Given the description of an element on the screen output the (x, y) to click on. 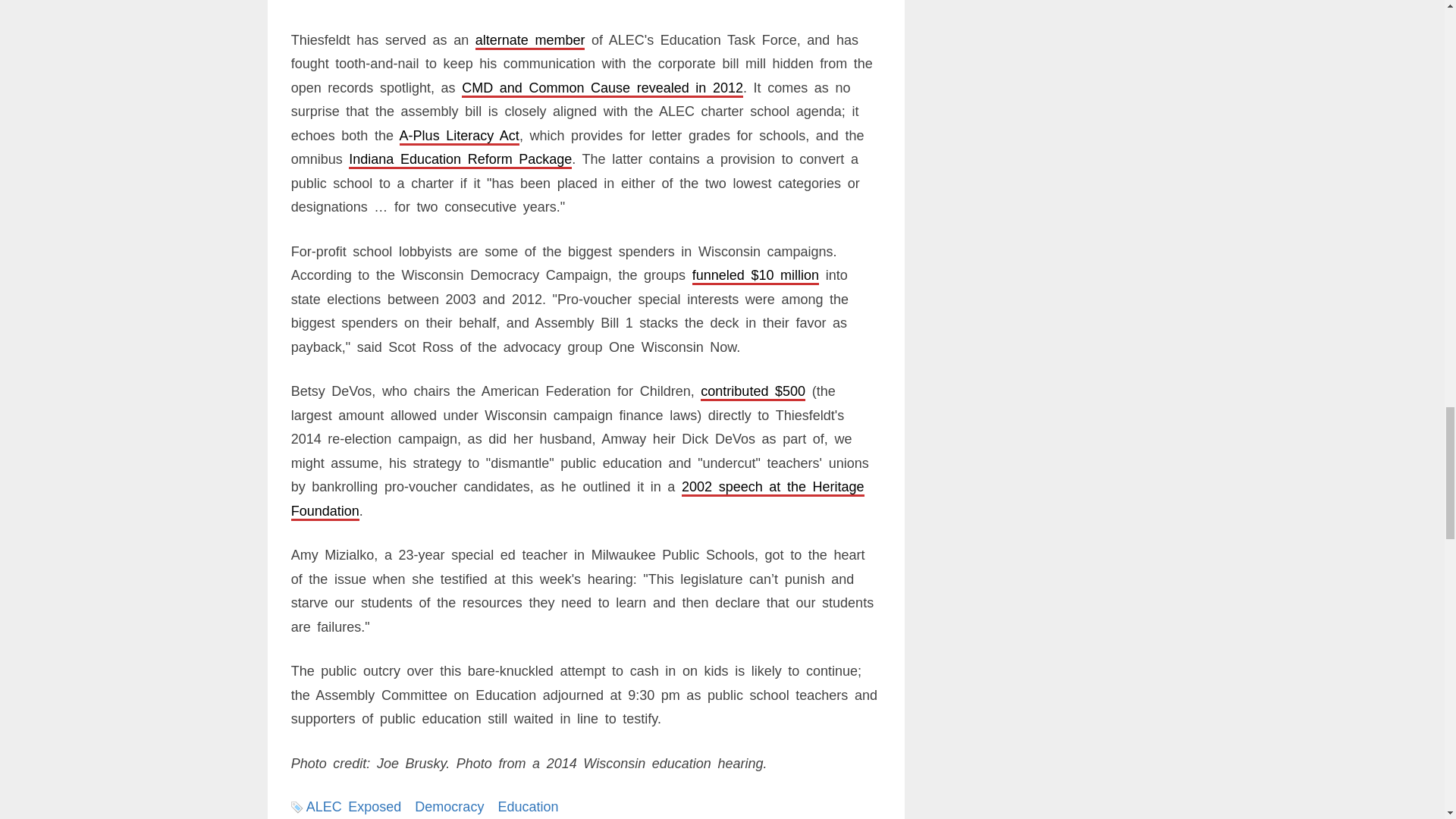
alternate member (530, 39)
Indiana Education Reform Package (460, 159)
Democracy (448, 806)
CMD and Common Cause revealed in 2012 (601, 87)
A-Plus Literacy Act (458, 135)
2002 speech at the Heritage Foundation (577, 498)
ALEC Exposed (353, 806)
Education (527, 806)
